Given the description of an element on the screen output the (x, y) to click on. 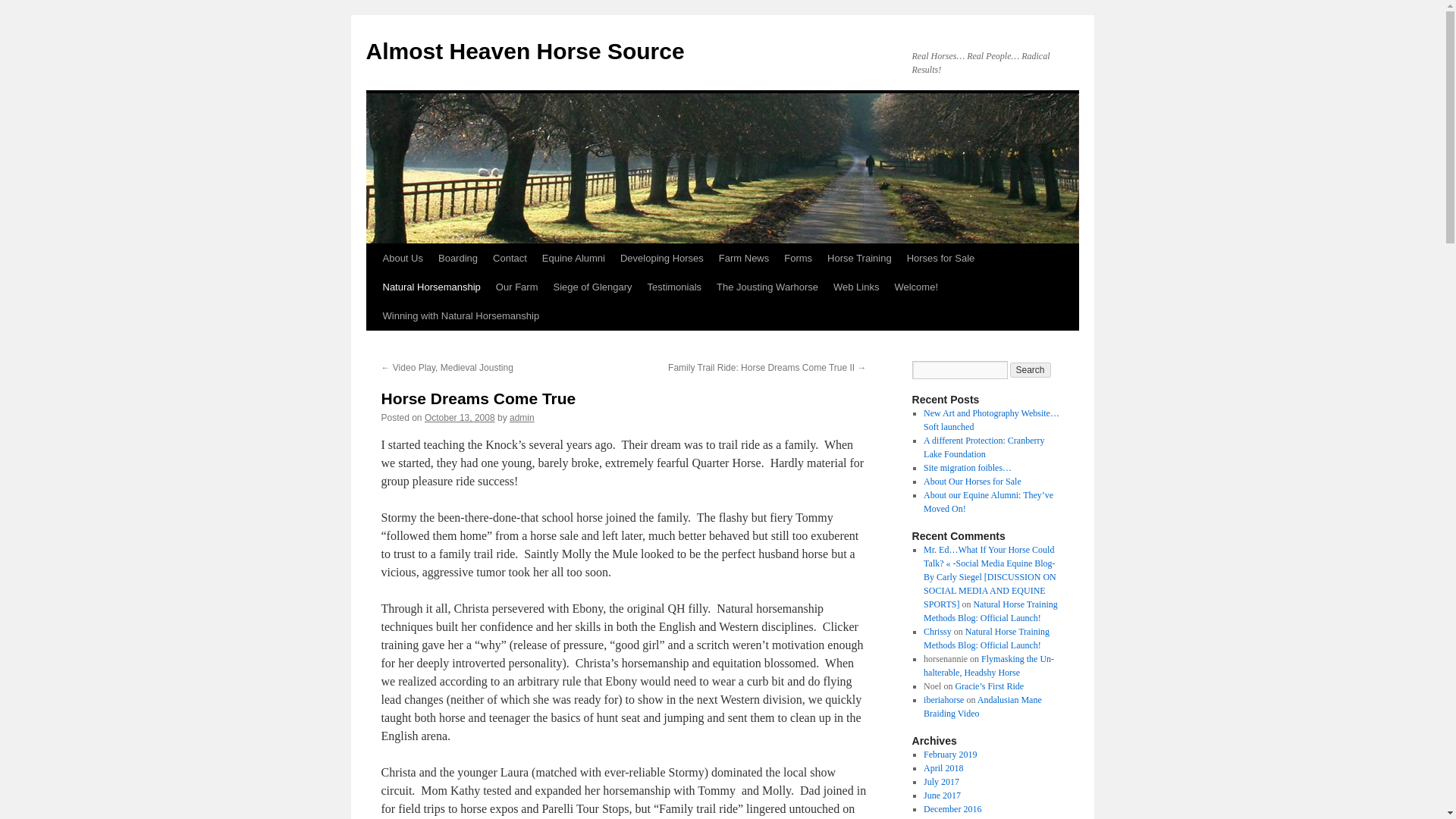
Almost Heaven Horse Source (524, 50)
Our Farm (516, 287)
Farm News (743, 258)
Winning with Natural Horsemanship (460, 316)
Equine Alumni (573, 258)
About Us (401, 258)
Developing Horses (661, 258)
Siege of Glengary (591, 287)
Horse Training (859, 258)
Natural Horsemanship (430, 287)
9:03 pm (460, 417)
Welcome! (915, 287)
Boarding (457, 258)
Testimonials (675, 287)
Web Links (855, 287)
